Given the description of an element on the screen output the (x, y) to click on. 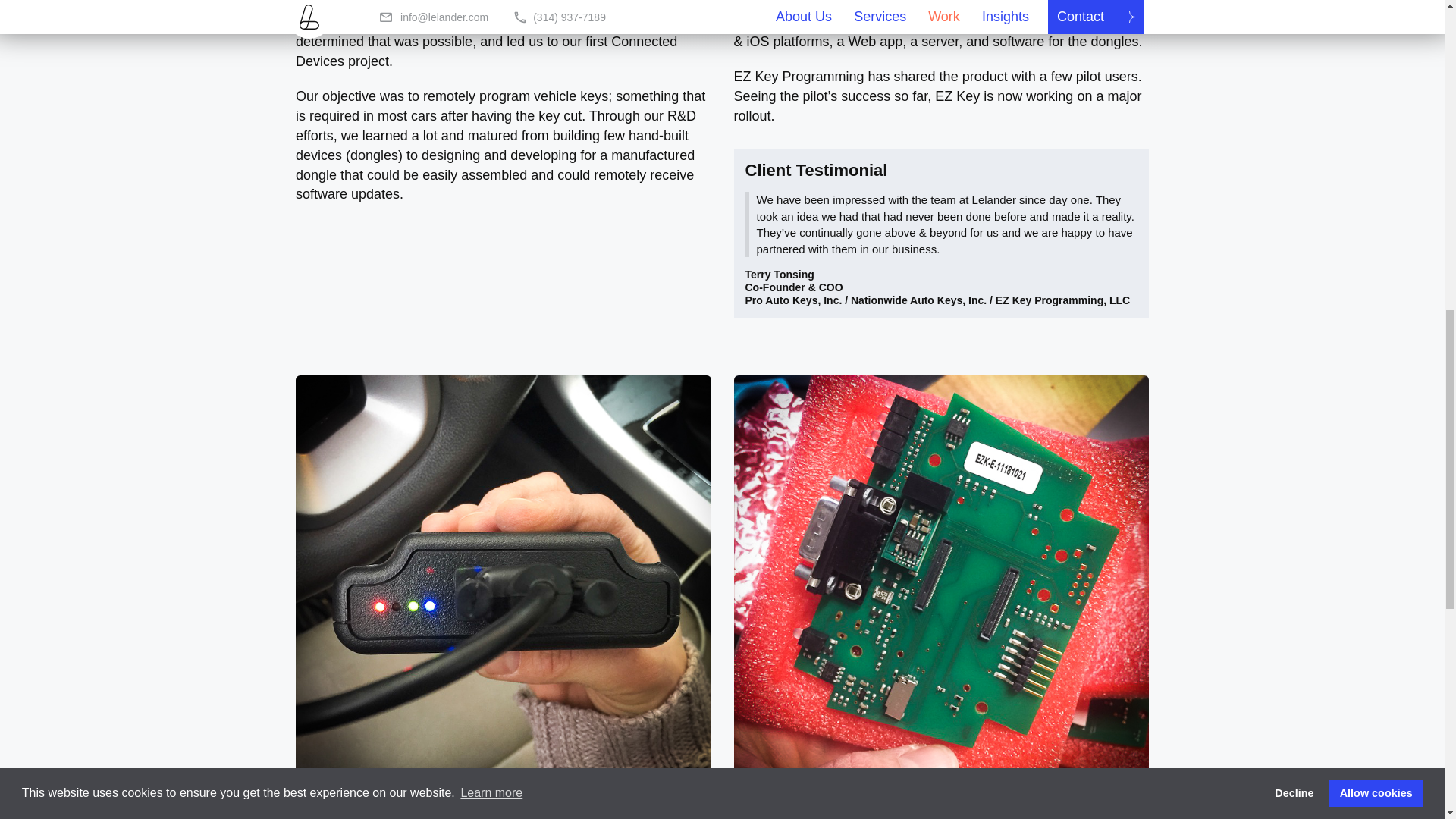
native mobile apps (991, 21)
